Given the description of an element on the screen output the (x, y) to click on. 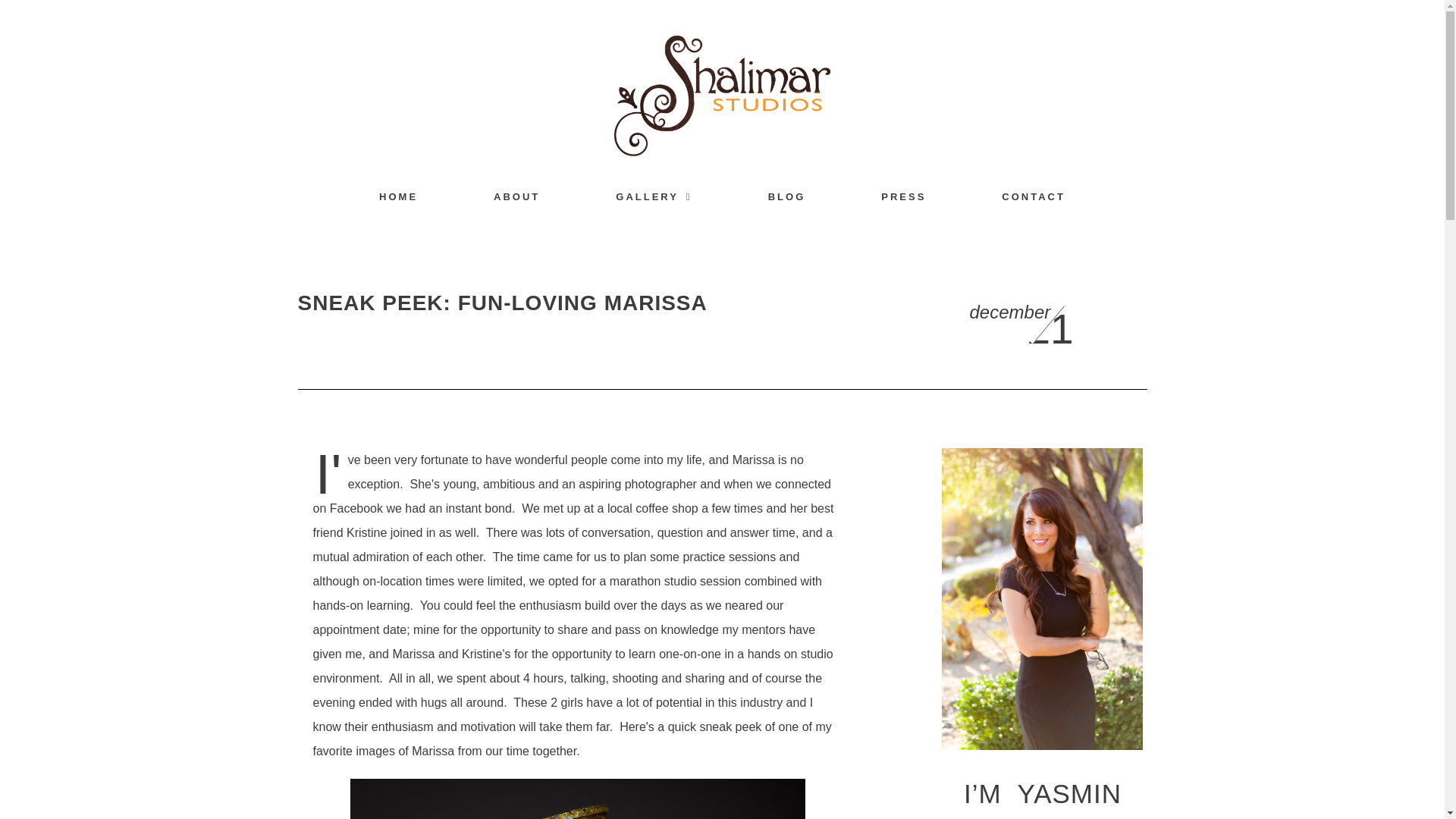
CONTACT (1033, 196)
HOME (397, 196)
BLOG (787, 196)
december (1009, 312)
PRESS (903, 196)
GALLERY (653, 196)
ABOUT (516, 196)
